Given the description of an element on the screen output the (x, y) to click on. 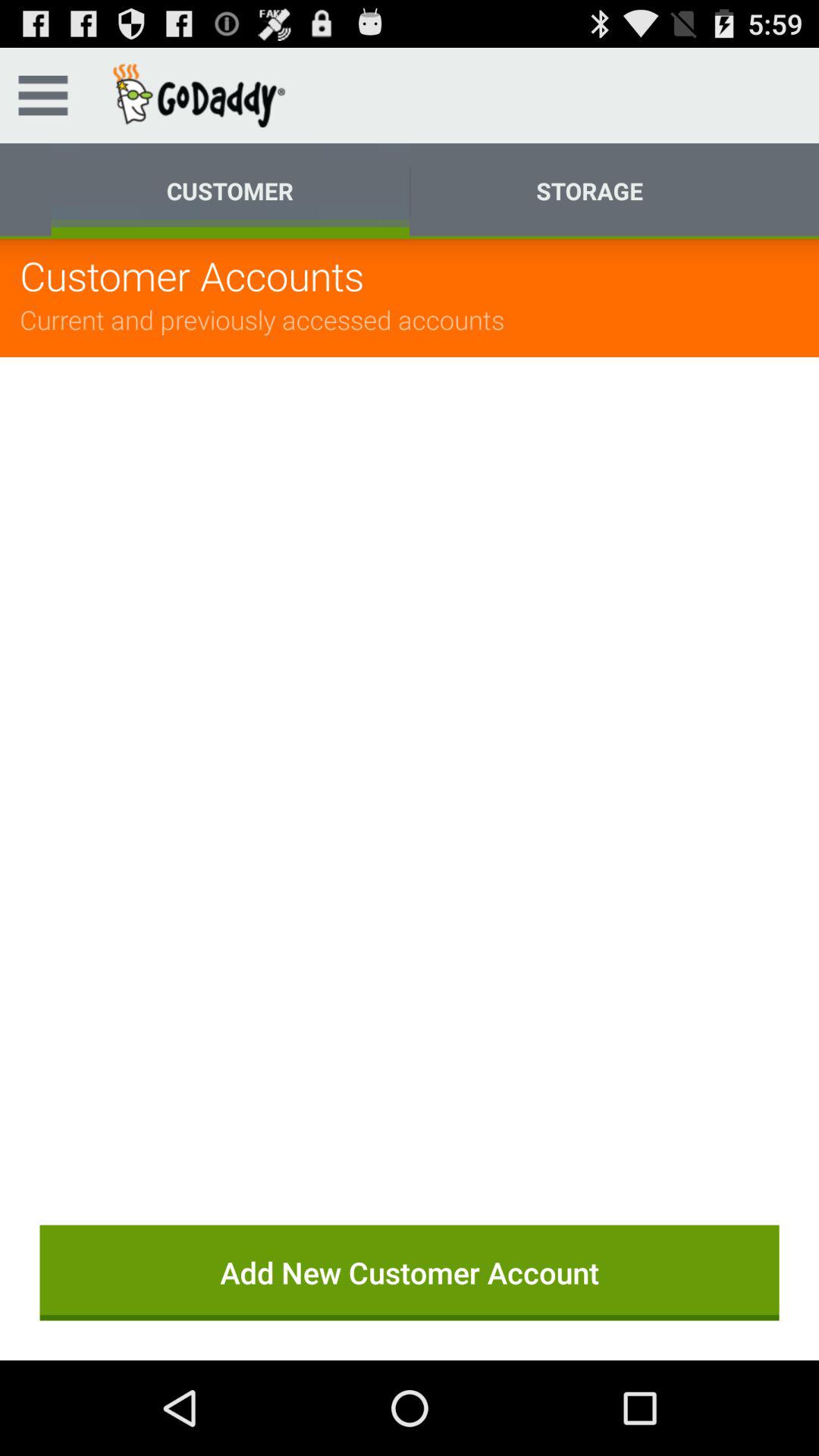
tap the item above the add new customer (409, 771)
